Given the description of an element on the screen output the (x, y) to click on. 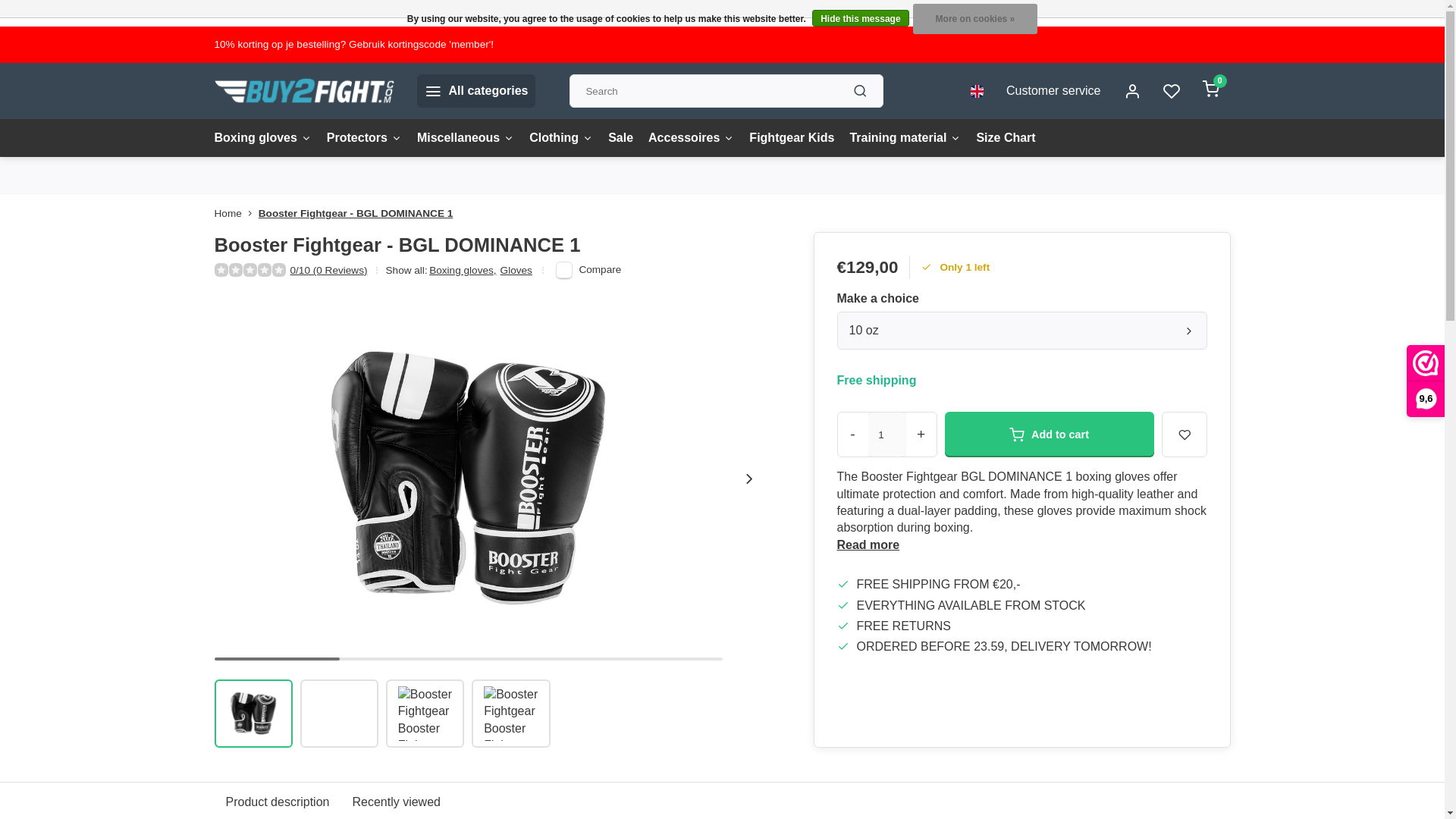
Customer service (1053, 90)
Boxing gloves (262, 137)
0 (1210, 90)
Buy2Fight (303, 90)
All categories (475, 90)
Protectors (363, 137)
Miscellaneous (464, 137)
Clothing (560, 137)
Boxing gloves (262, 137)
Accessoires (690, 137)
